Given the description of an element on the screen output the (x, y) to click on. 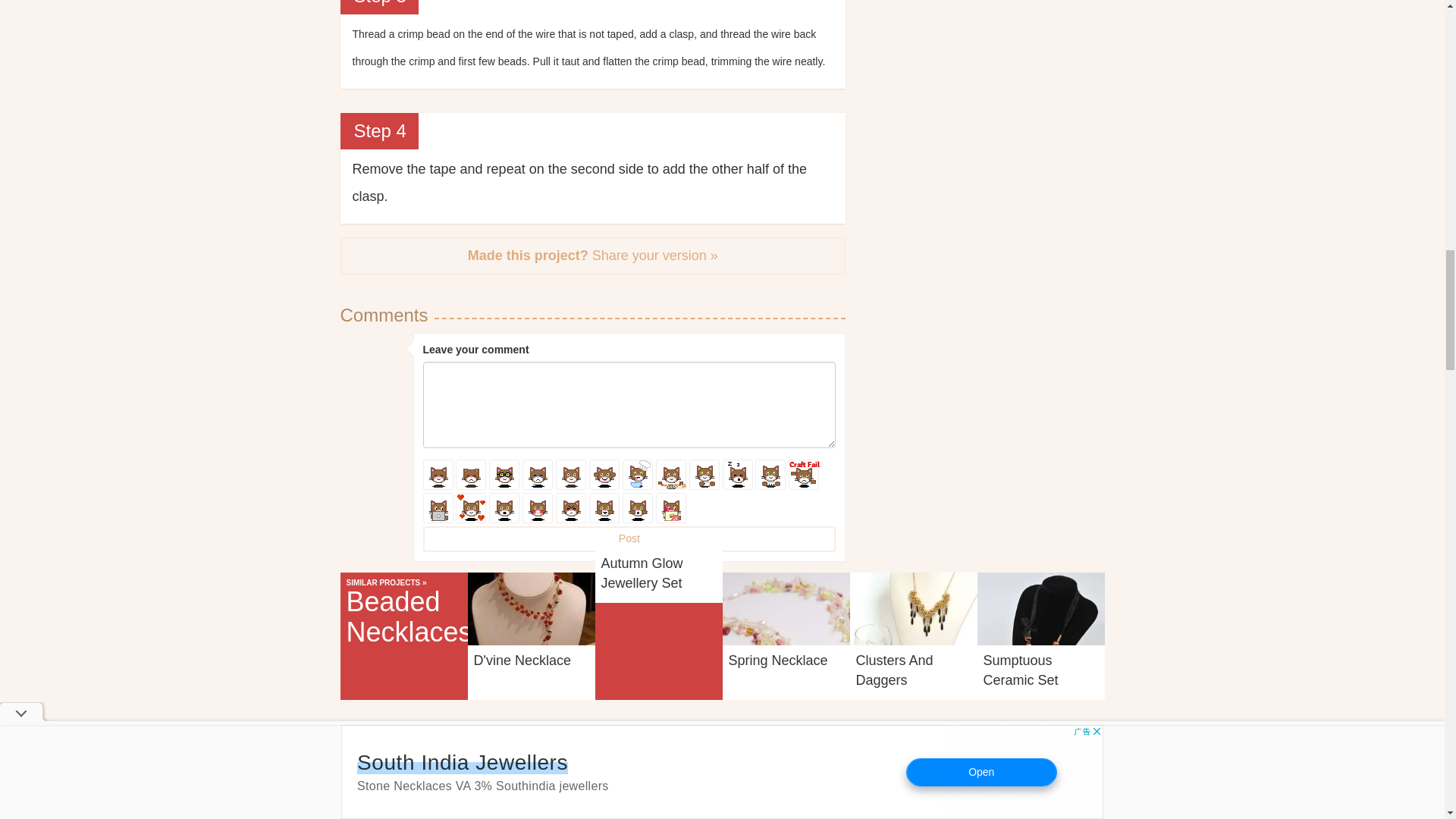
Post (629, 539)
